Given the description of an element on the screen output the (x, y) to click on. 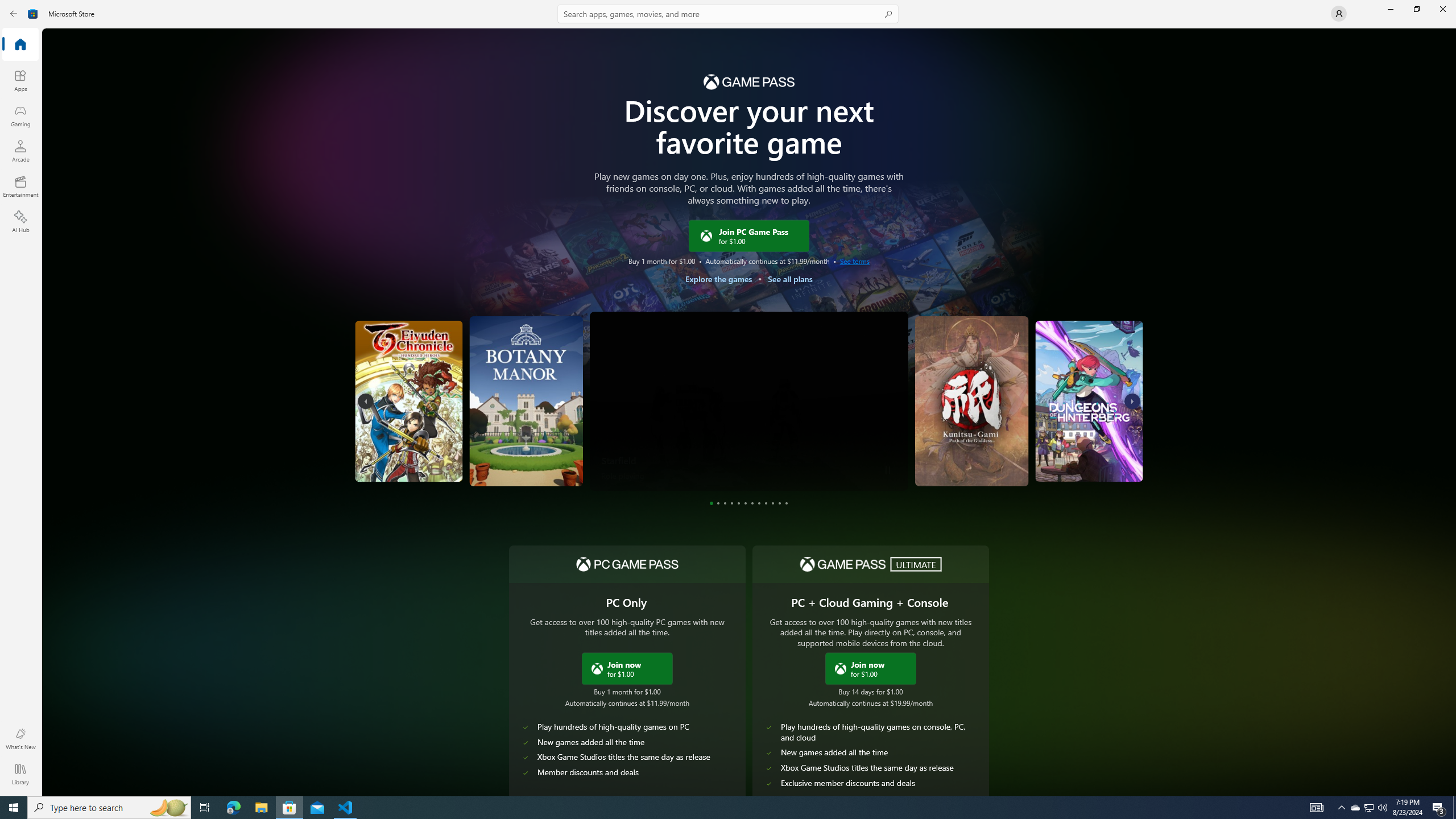
AI Hub (20, 221)
See all plans (789, 278)
Flintlock: The Siege of Dawn (1107, 451)
Botany Manor (413, 456)
Starfield (748, 401)
Close Microsoft Store (1442, 9)
Page 4 (731, 503)
Home (20, 45)
Arcade (20, 150)
Another Crab's Treasure (391, 401)
What's New (20, 738)
Page 7 (751, 503)
Botany Manor (523, 401)
Pause Trailer (887, 469)
Join PC Game Pass now for $1.00 (627, 667)
